Given the description of an element on the screen output the (x, y) to click on. 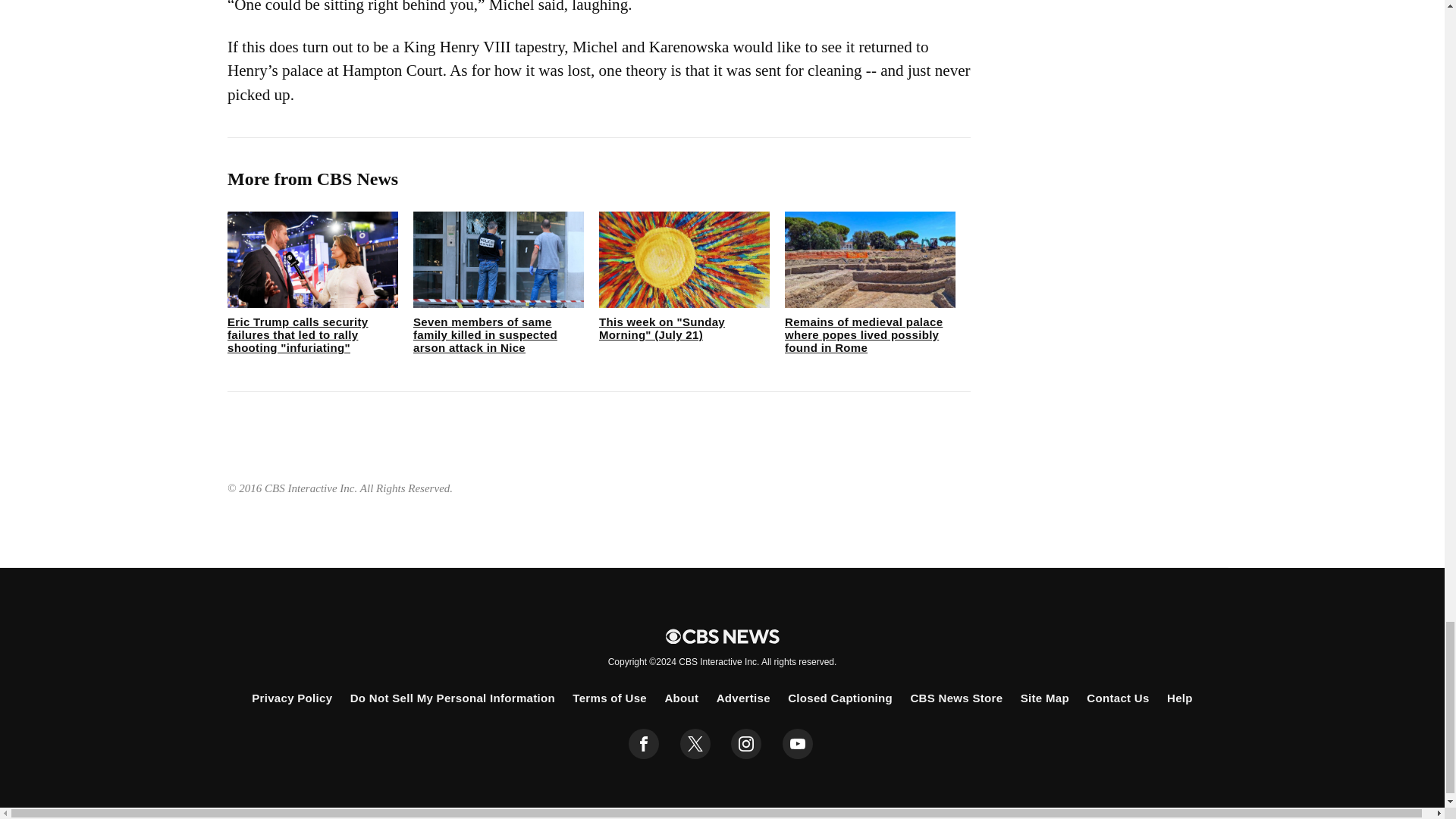
youtube (797, 743)
instagram (745, 743)
facebook (643, 743)
twitter (694, 743)
